Given the description of an element on the screen output the (x, y) to click on. 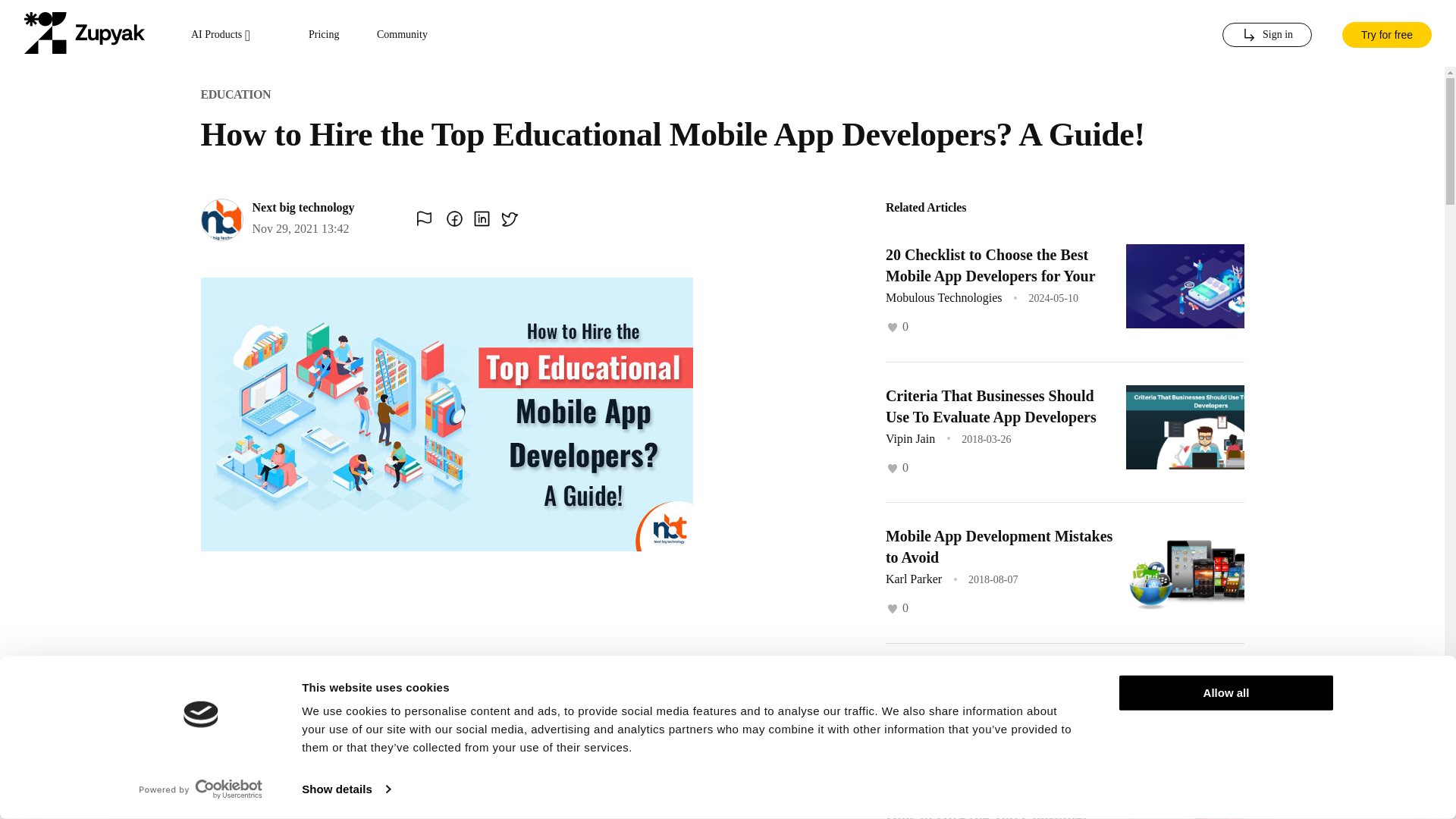
Mobile App Development Mistakes to Avoid (998, 546)
What does Mobile App Developers Do? (997, 687)
Show details (345, 789)
